Given the description of an element on the screen output the (x, y) to click on. 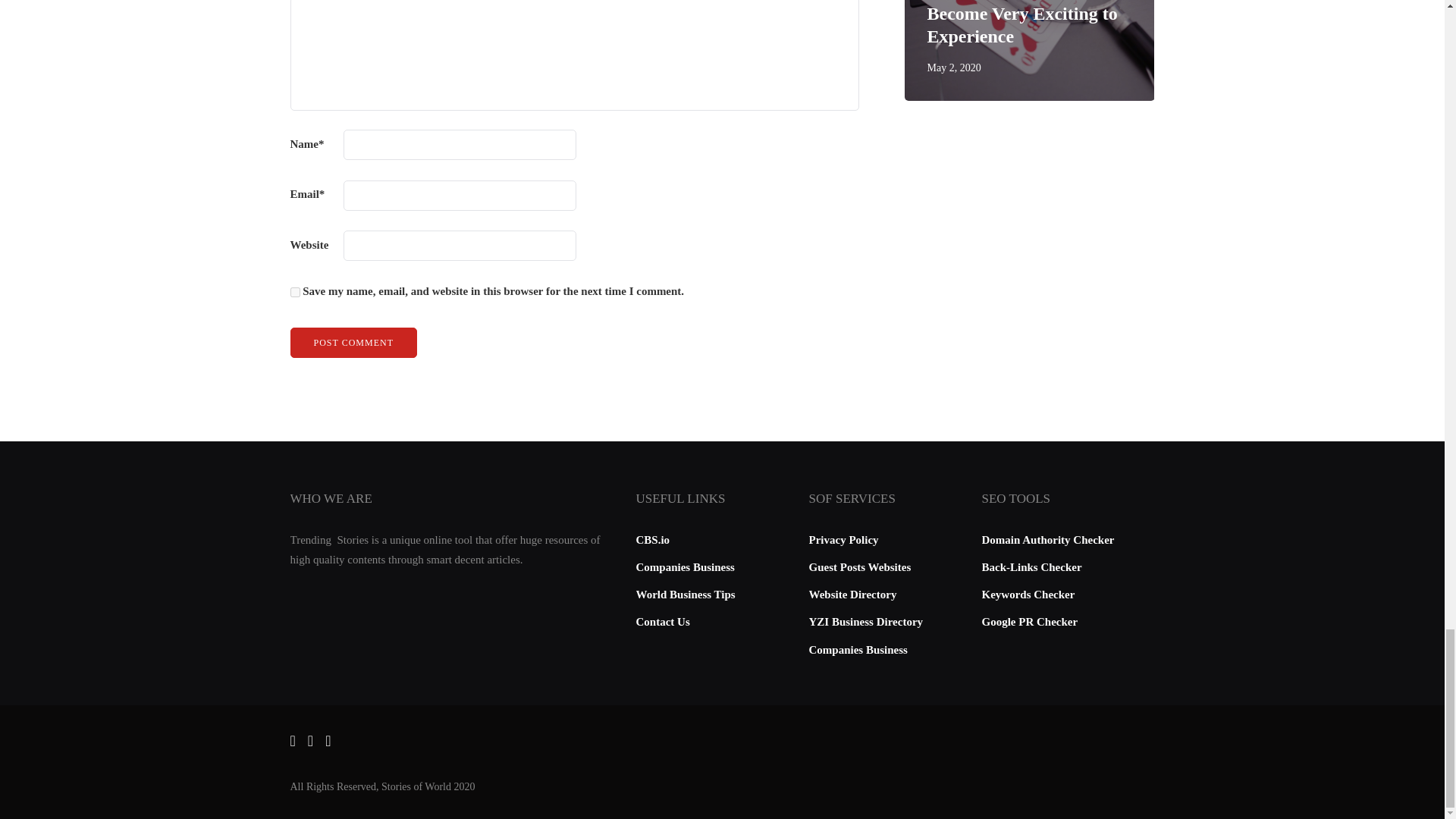
Post comment (352, 342)
yes (294, 292)
